Given the description of an element on the screen output the (x, y) to click on. 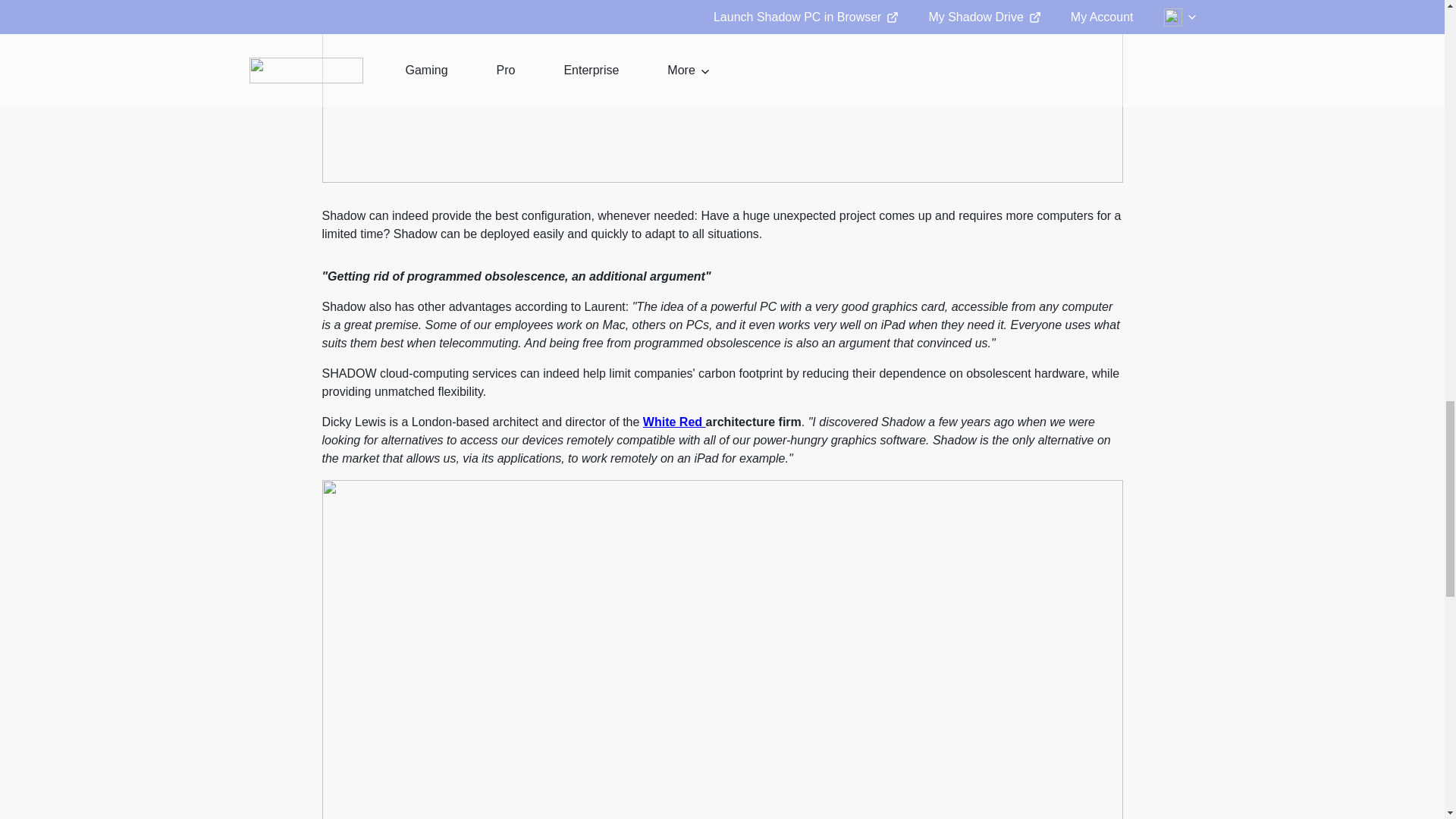
White Red (674, 421)
